Given the description of an element on the screen output the (x, y) to click on. 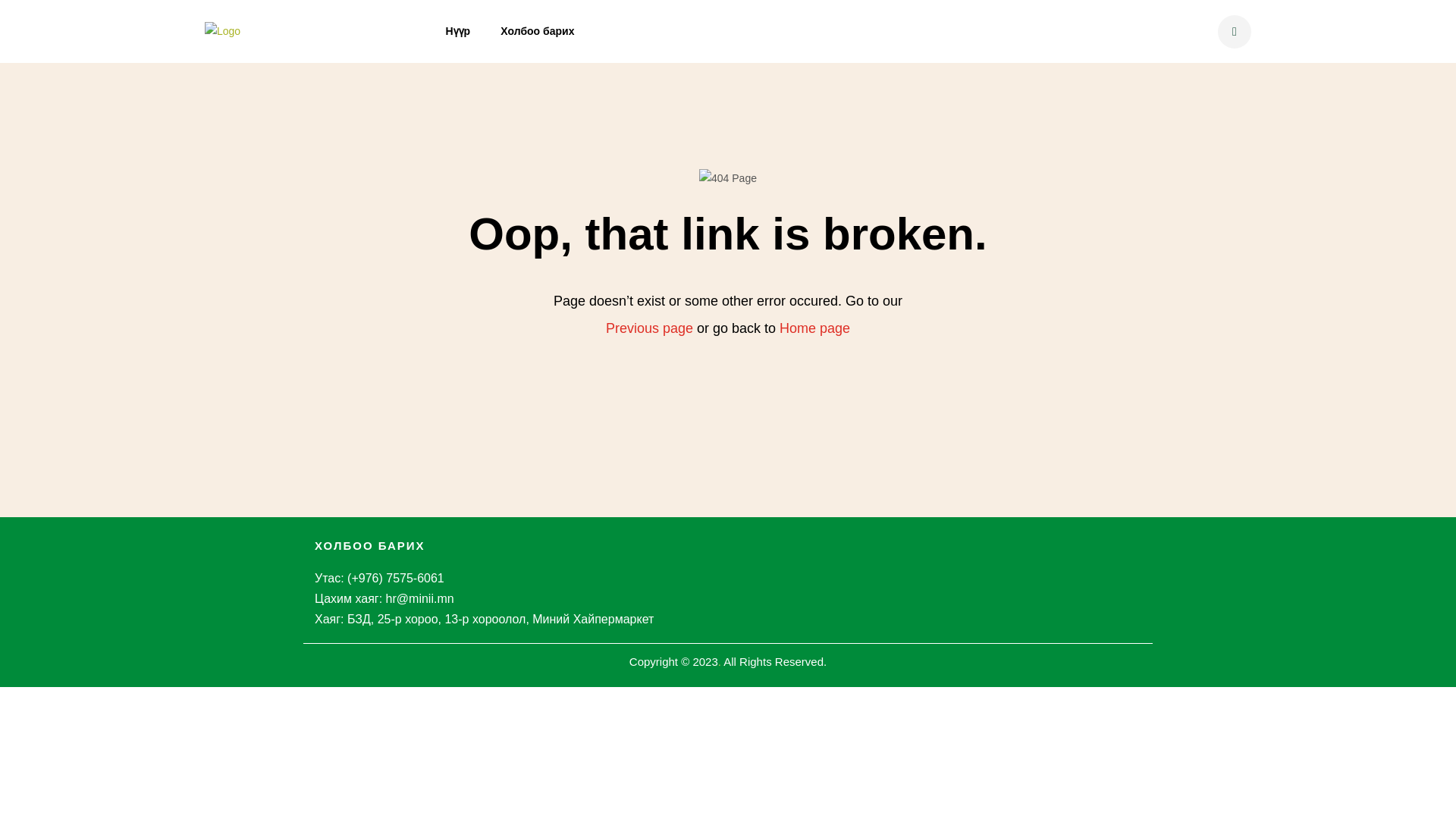
Search (889, 238)
Home page (814, 328)
Previous page (649, 328)
